Given the description of an element on the screen output the (x, y) to click on. 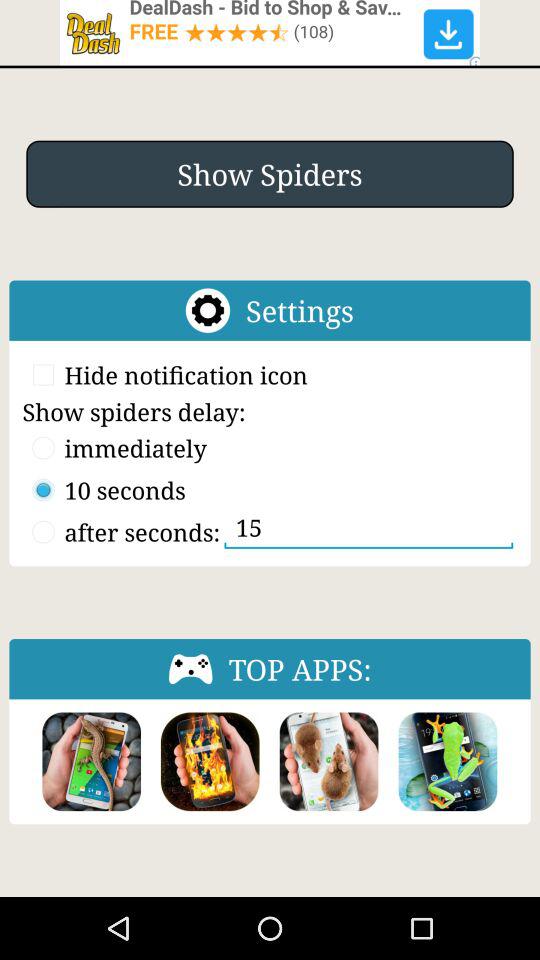
click this app (91, 761)
